Given the description of an element on the screen output the (x, y) to click on. 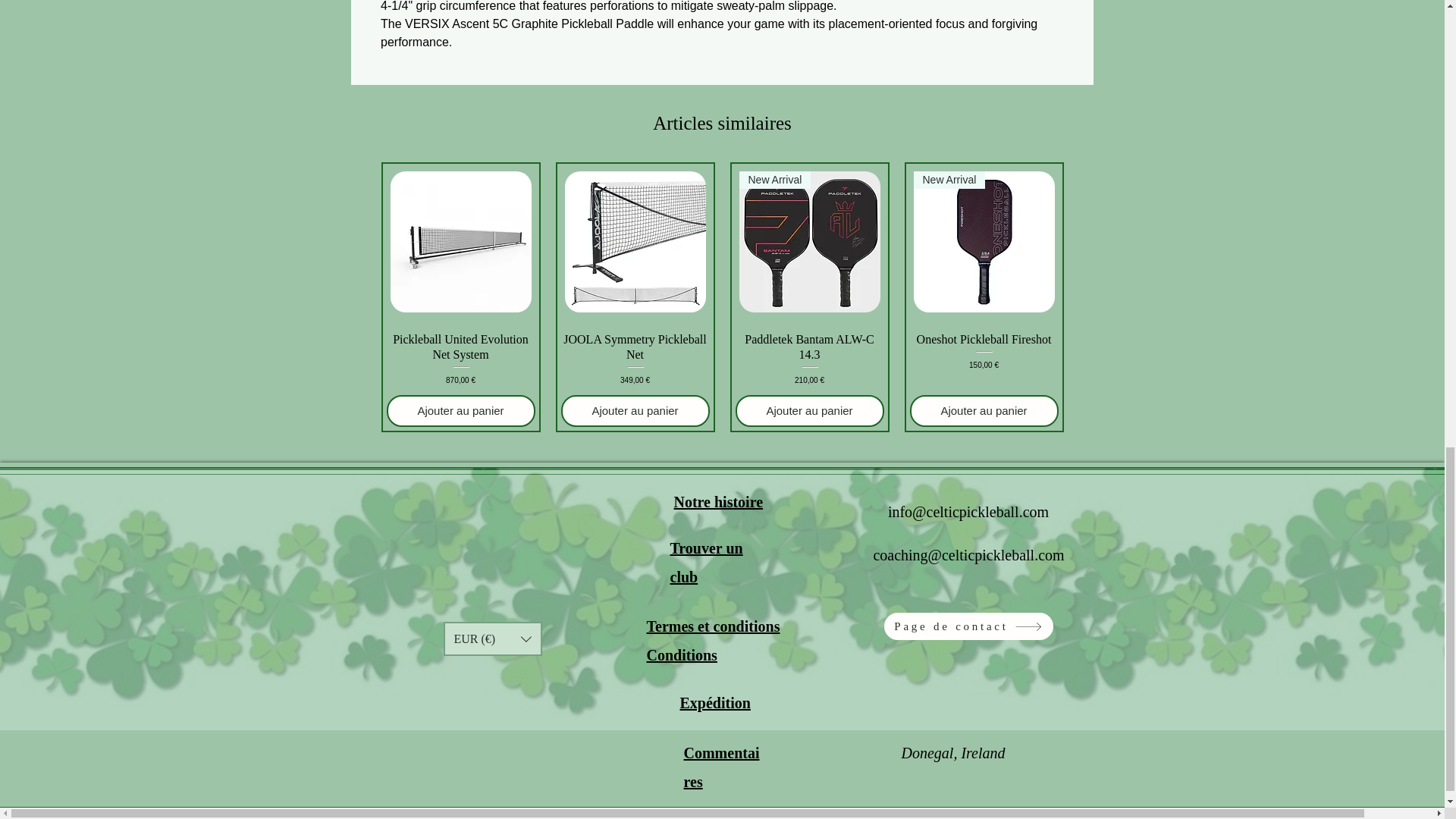
Ajouter au panier (461, 410)
